Given the description of an element on the screen output the (x, y) to click on. 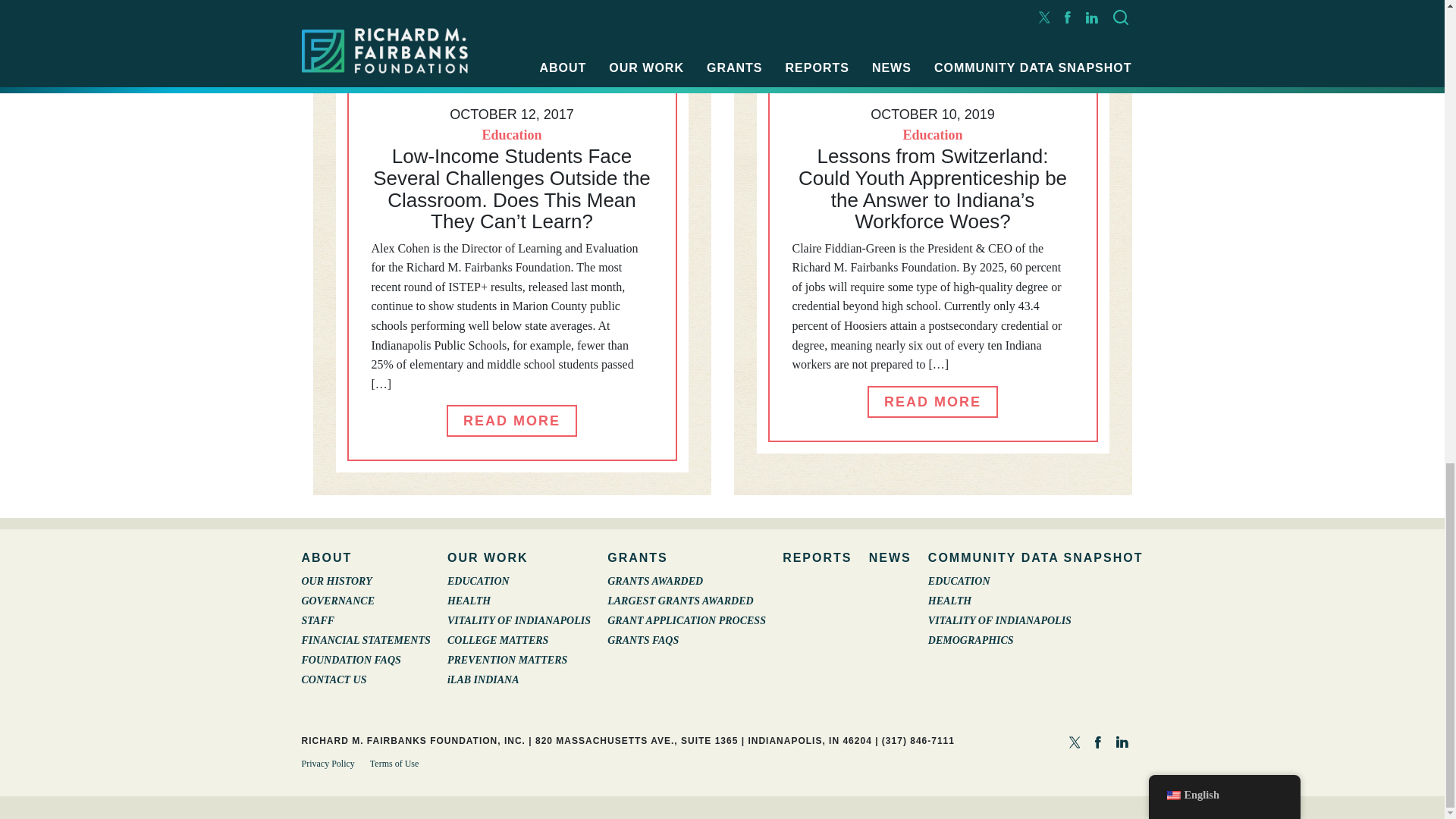
Richard M. Fairbanks LinkedIn (1122, 739)
